Given the description of an element on the screen output the (x, y) to click on. 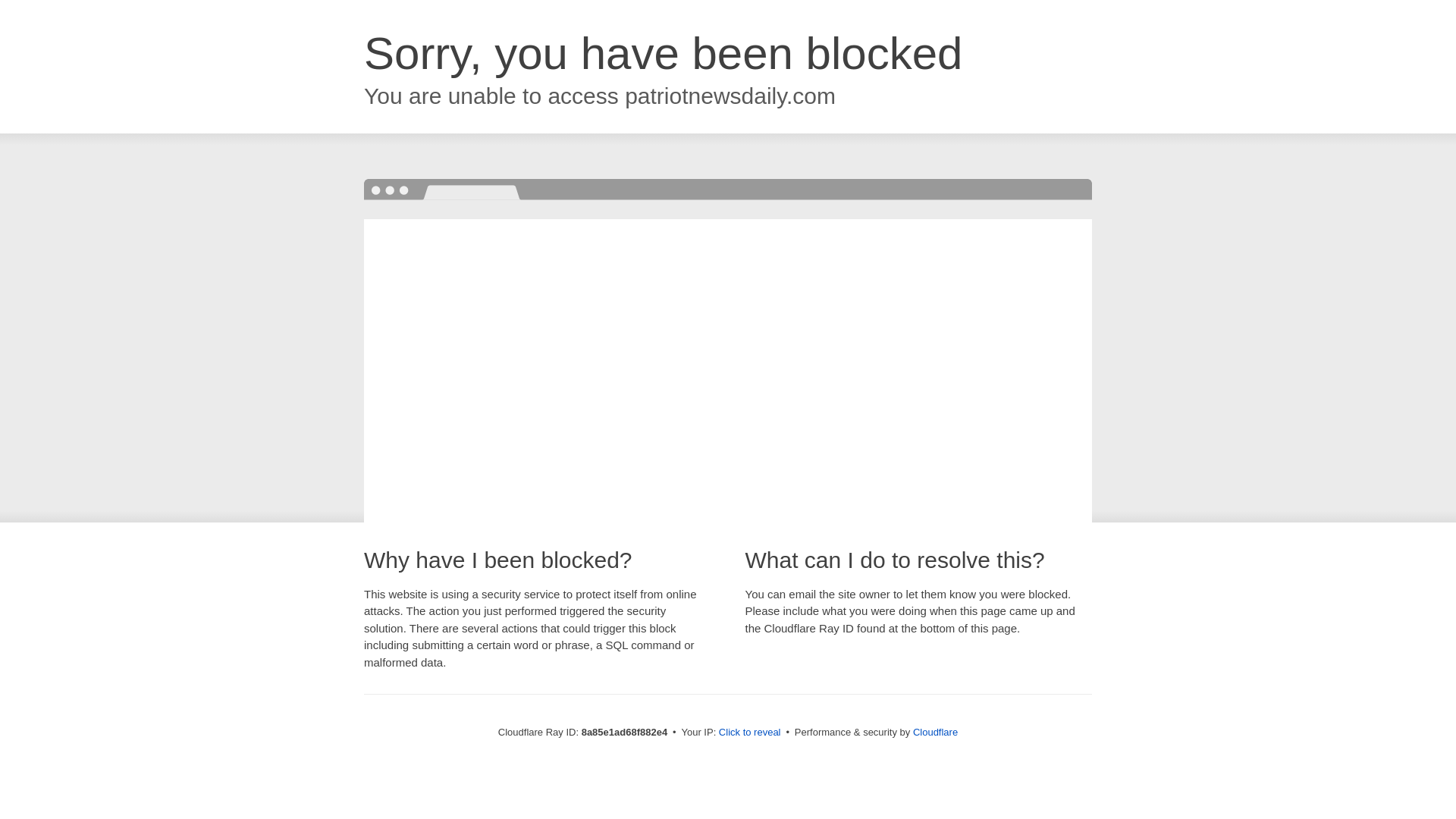
Cloudflare (935, 731)
Click to reveal (749, 732)
